Given the description of an element on the screen output the (x, y) to click on. 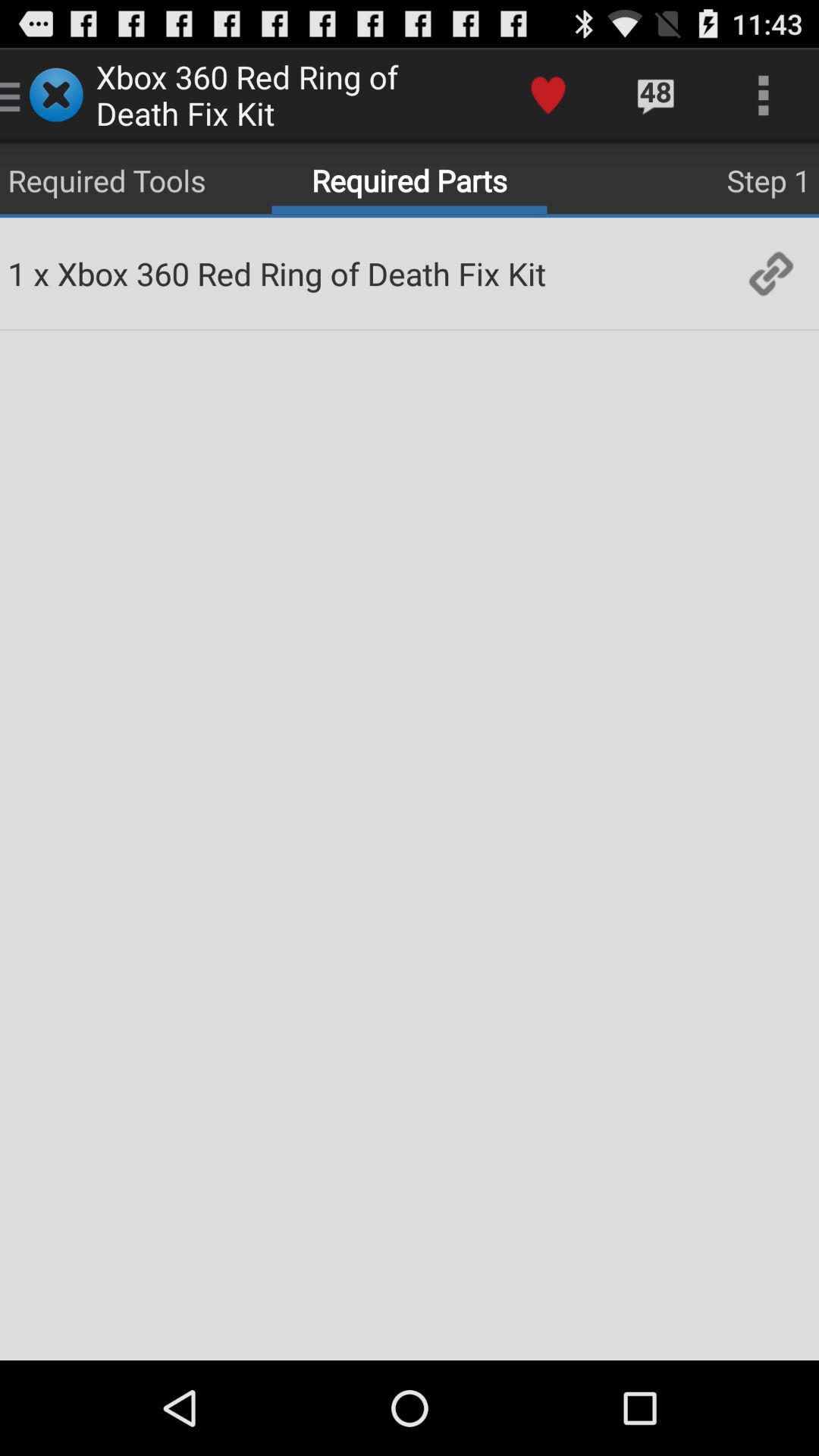
select item next to xbox 360 red (771, 273)
